Given the description of an element on the screen output the (x, y) to click on. 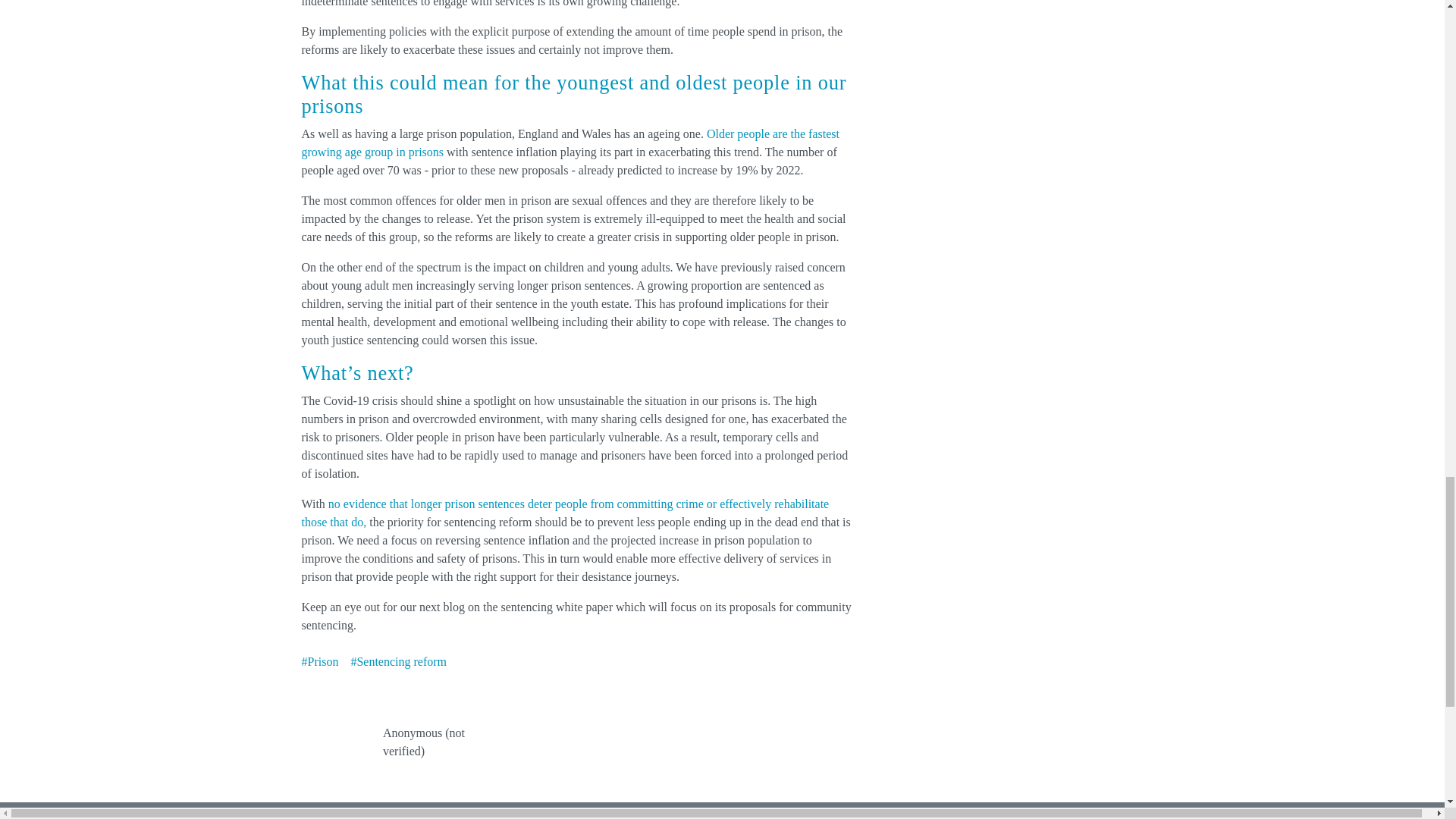
Older people are the fastest growing age group in prisons (570, 142)
Prison (320, 661)
Sentencing reform (398, 661)
Prison (320, 661)
Sentencing reform (398, 661)
